Given the description of an element on the screen output the (x, y) to click on. 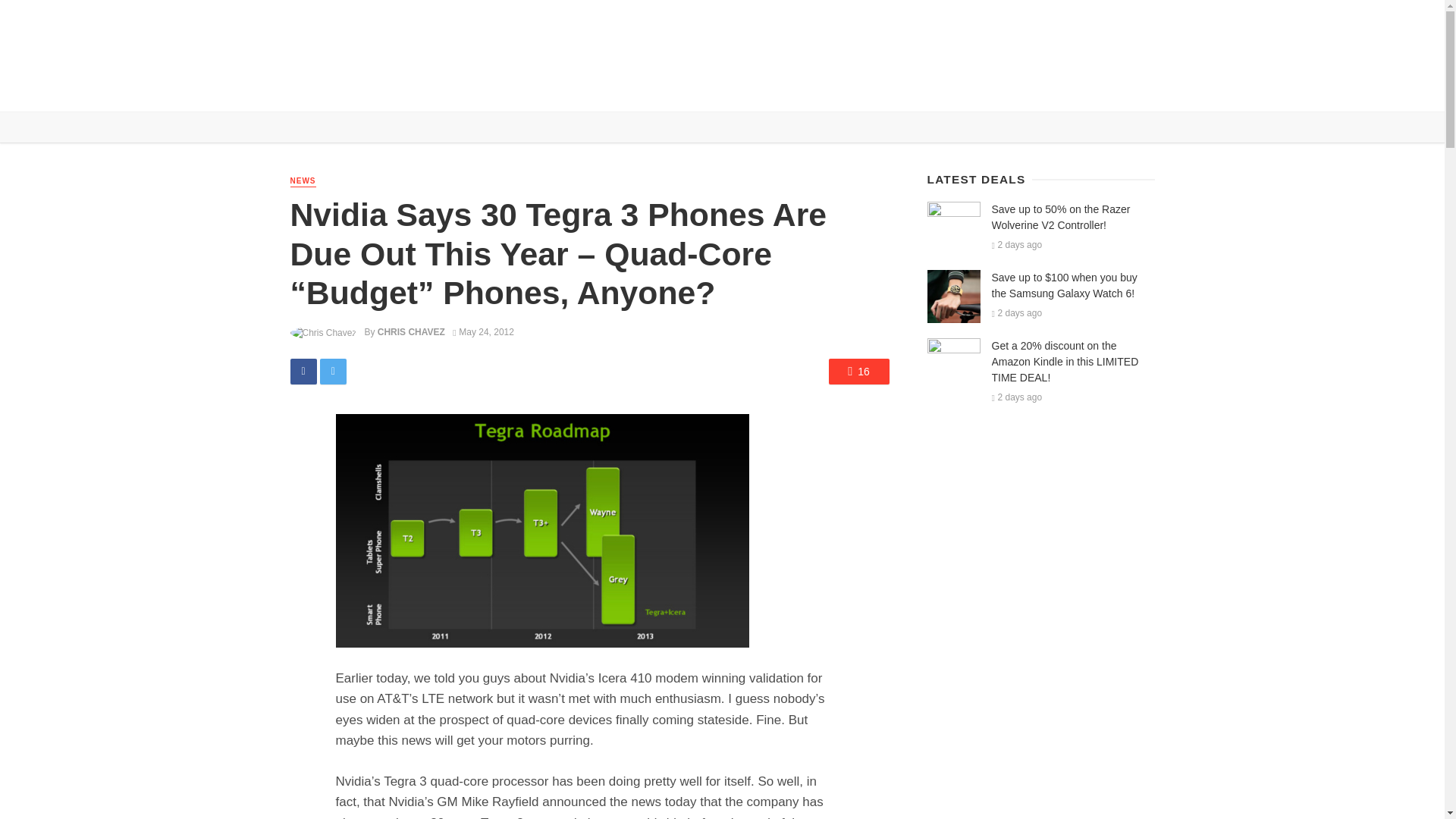
Share on Twitter (333, 371)
DEALS (452, 89)
Share on Facebook (302, 371)
CHRIS CHAVEZ (411, 331)
MORE (612, 89)
Tegra 3 roadmap (541, 530)
16 (858, 371)
Posts by Chris Chavez (411, 331)
HOW TO (504, 89)
16 Comments (858, 371)
